Given the description of an element on the screen output the (x, y) to click on. 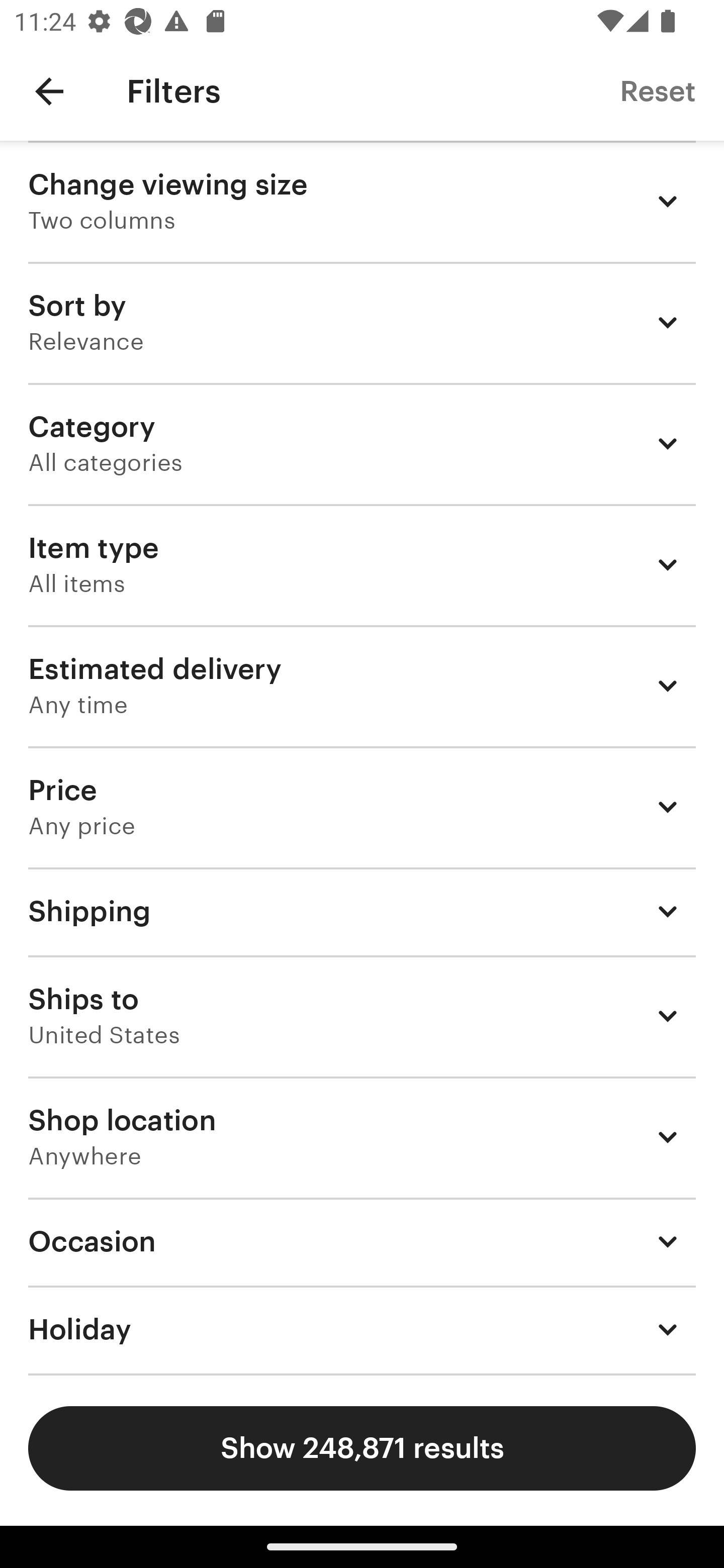
Navigate up (49, 91)
Reset (657, 90)
Change viewing size Two columns (362, 201)
Sort by Relevance (362, 321)
Category All categories (362, 442)
Item type All items (362, 564)
Estimated delivery Any time (362, 685)
Price Any price (362, 806)
Shipping (362, 910)
Ships to United States (362, 1015)
Shop location Anywhere (362, 1137)
Occasion (362, 1241)
Holiday (362, 1329)
Show 248,871 results Show results (361, 1448)
